Given the description of an element on the screen output the (x, y) to click on. 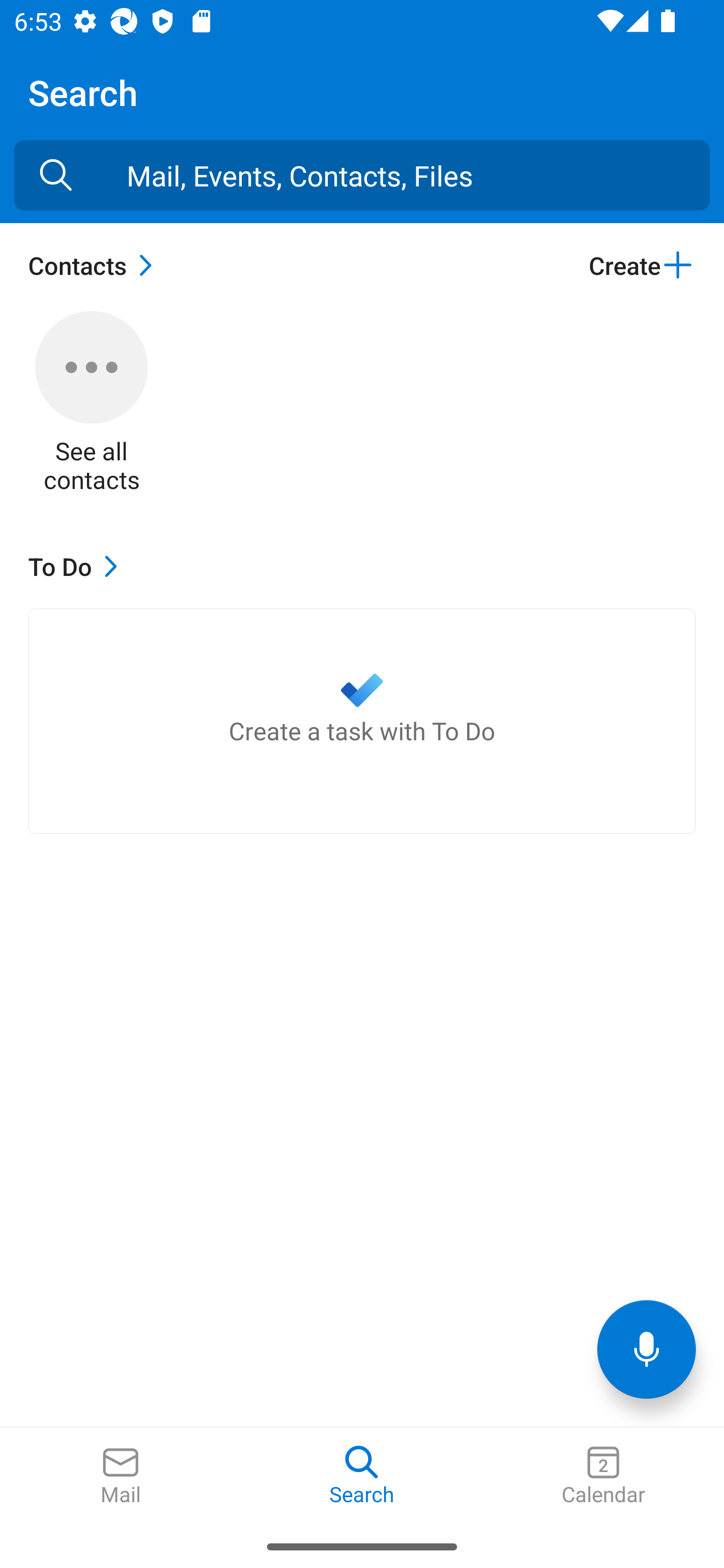
Search Mail, Events, Contacts, Files (55, 174)
Contacts (95, 264)
Create Create contact (641, 264)
See all contacts (91, 402)
To Do (77, 565)
Create a task with To Do (361, 721)
Voice Assistant (646, 1348)
Mail (120, 1475)
Calendar (603, 1475)
